Given the description of an element on the screen output the (x, y) to click on. 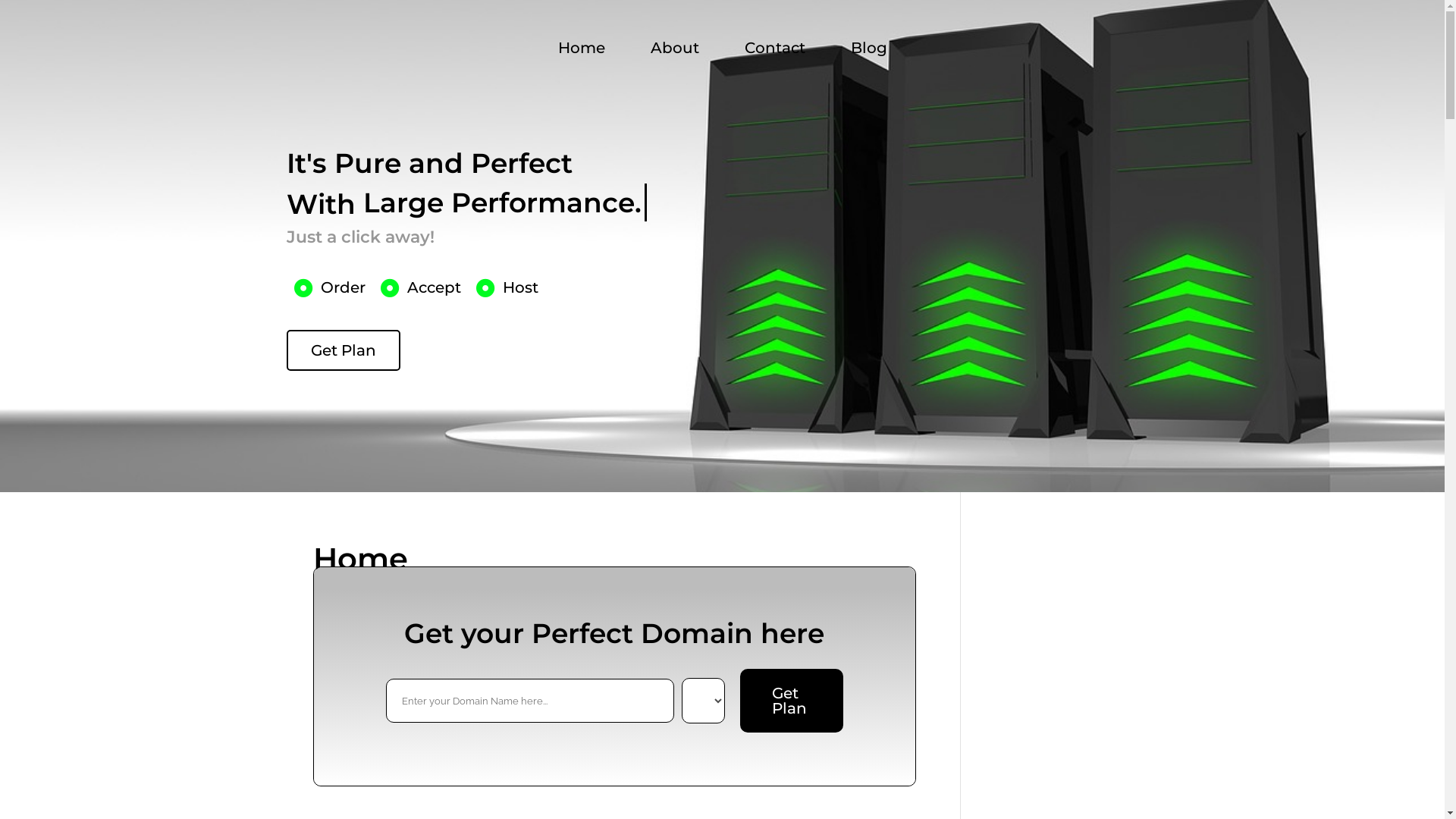
About Element type: text (673, 47)
Blog Element type: text (868, 47)
Order Element type: text (329, 287)
Home Element type: text (580, 47)
Contact Element type: text (773, 47)
Host Element type: text (507, 287)
Get Plan Element type: text (791, 700)
Accept Element type: text (420, 287)
Get Plan Element type: text (343, 349)
